Given the description of an element on the screen output the (x, y) to click on. 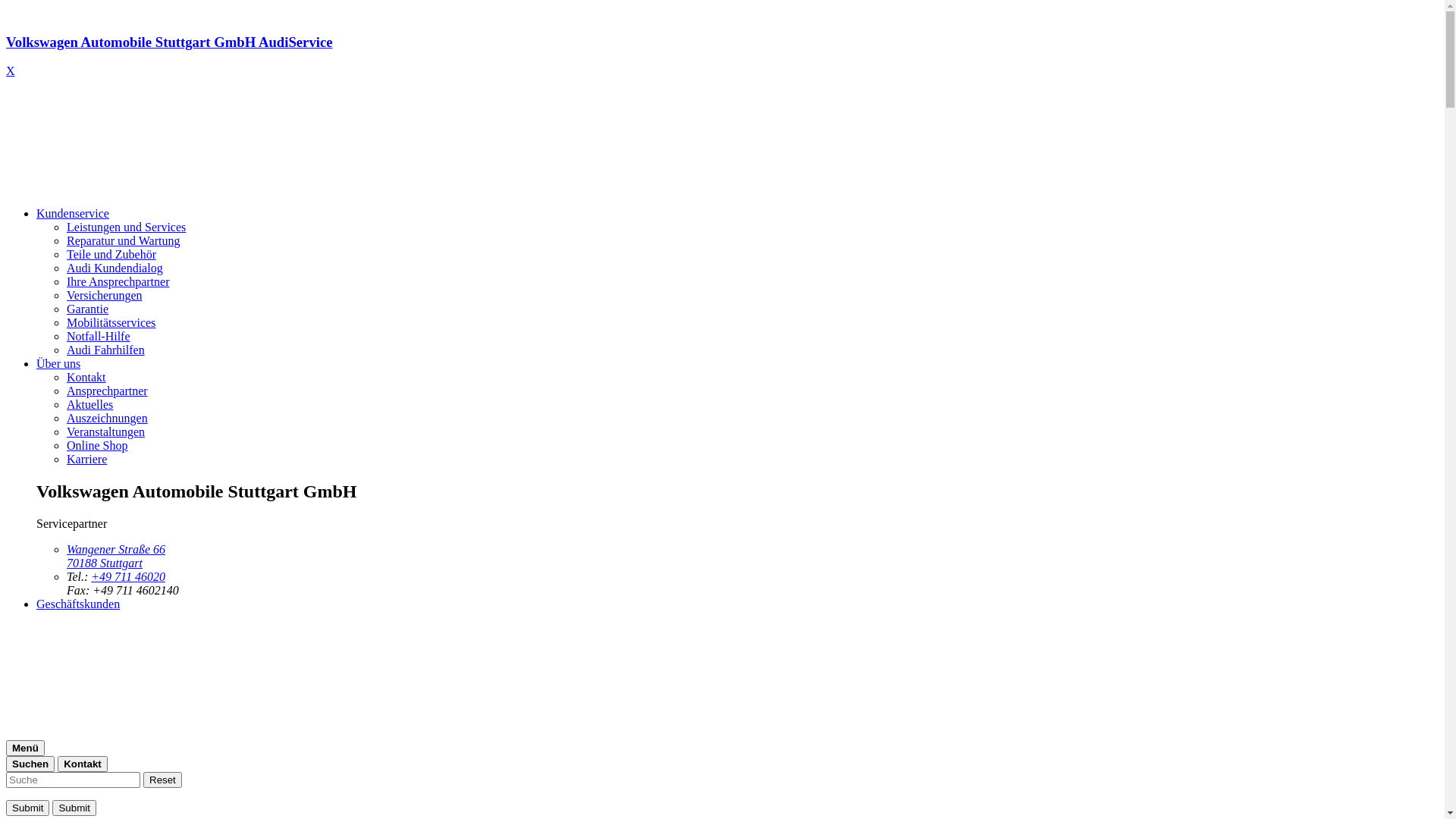
+49 711 46020 Element type: text (128, 576)
Aktuelles Element type: text (89, 404)
Garantie Element type: text (87, 308)
Auszeichnungen Element type: text (106, 417)
Audi Kundendialog Element type: text (114, 267)
Notfall-Hilfe Element type: text (98, 335)
Kundenservice Element type: text (72, 213)
Reparatur und Wartung Element type: text (122, 240)
Kontakt Element type: text (86, 376)
Audi Fahrhilfen Element type: text (105, 349)
Ansprechpartner Element type: text (106, 390)
Versicherungen Element type: text (104, 294)
Online Shop Element type: text (96, 445)
Leistungen und Services Element type: text (125, 226)
Kontakt Element type: text (82, 763)
X Element type: text (10, 70)
Karriere Element type: text (86, 458)
Suchen Element type: text (30, 763)
Veranstaltungen Element type: text (105, 431)
Ihre Ansprechpartner Element type: text (117, 281)
Volkswagen Automobile Stuttgart GmbH AudiService Element type: text (722, 56)
